Given the description of an element on the screen output the (x, y) to click on. 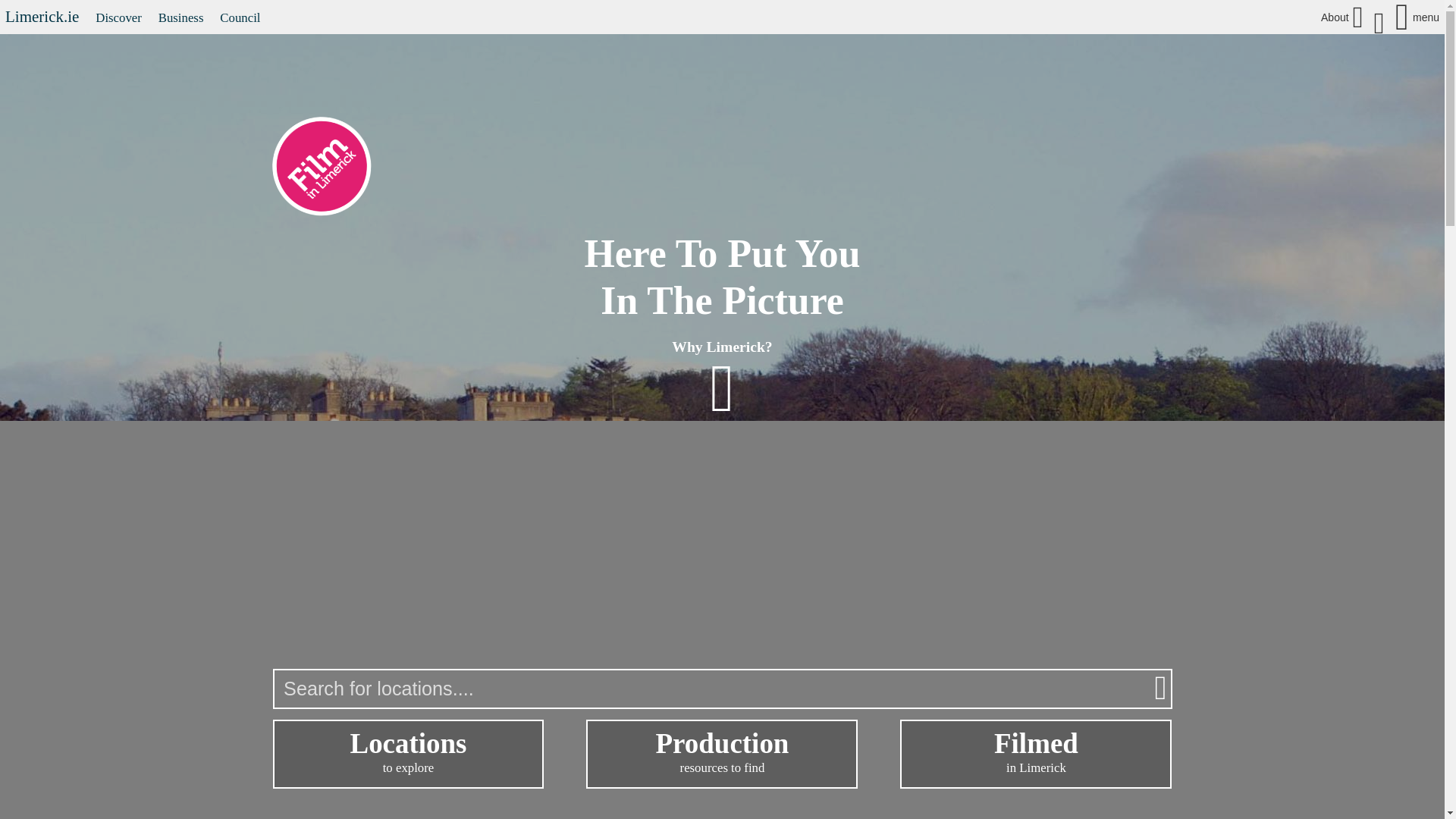
Discover (118, 17)
Limerick.ie (41, 16)
Council (239, 17)
Business (180, 17)
